Given the description of an element on the screen output the (x, y) to click on. 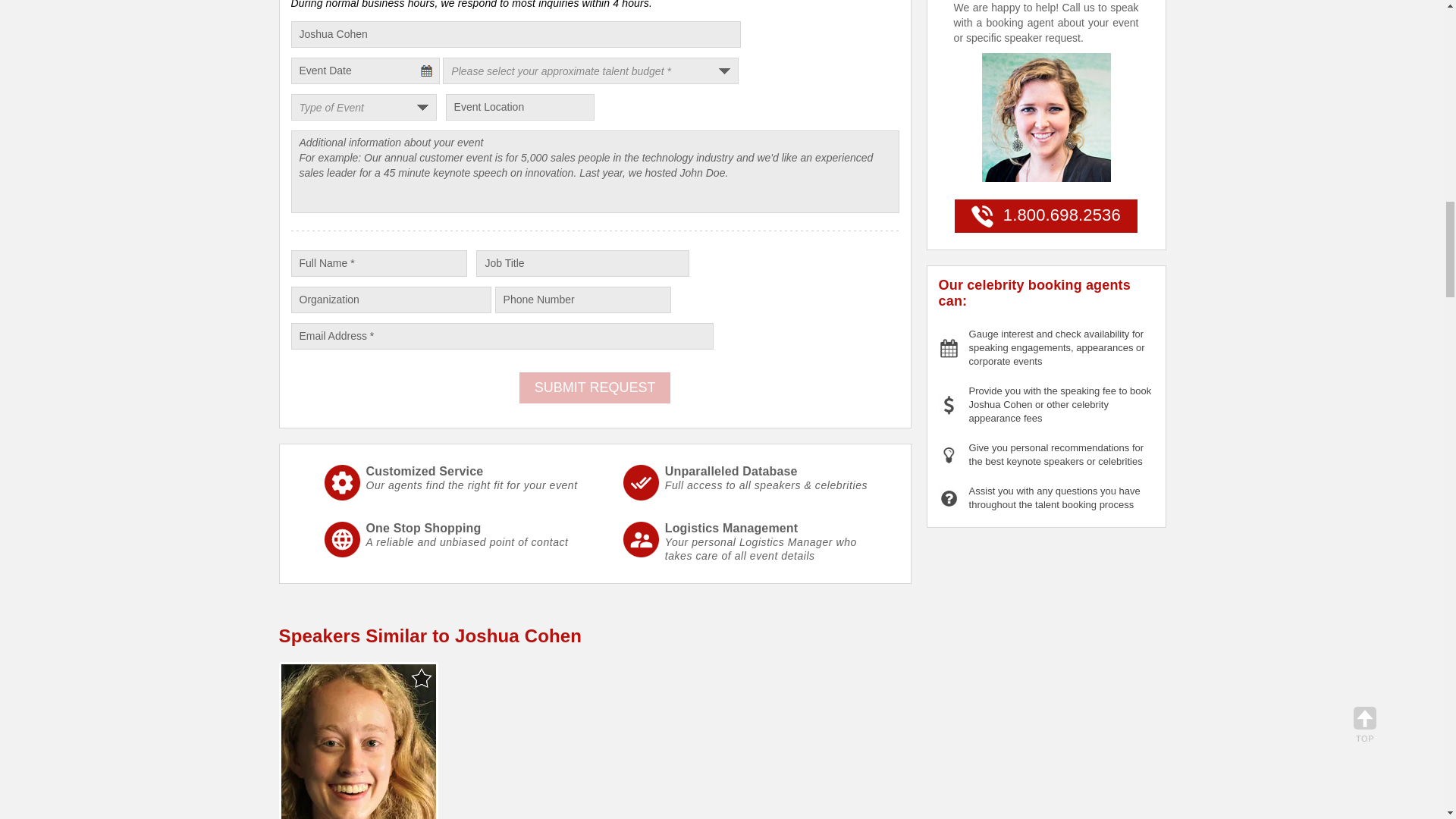
Joshua Cohen (516, 34)
Erin Smith (358, 741)
SUBMIT REQUEST (595, 387)
